Given the description of an element on the screen output the (x, y) to click on. 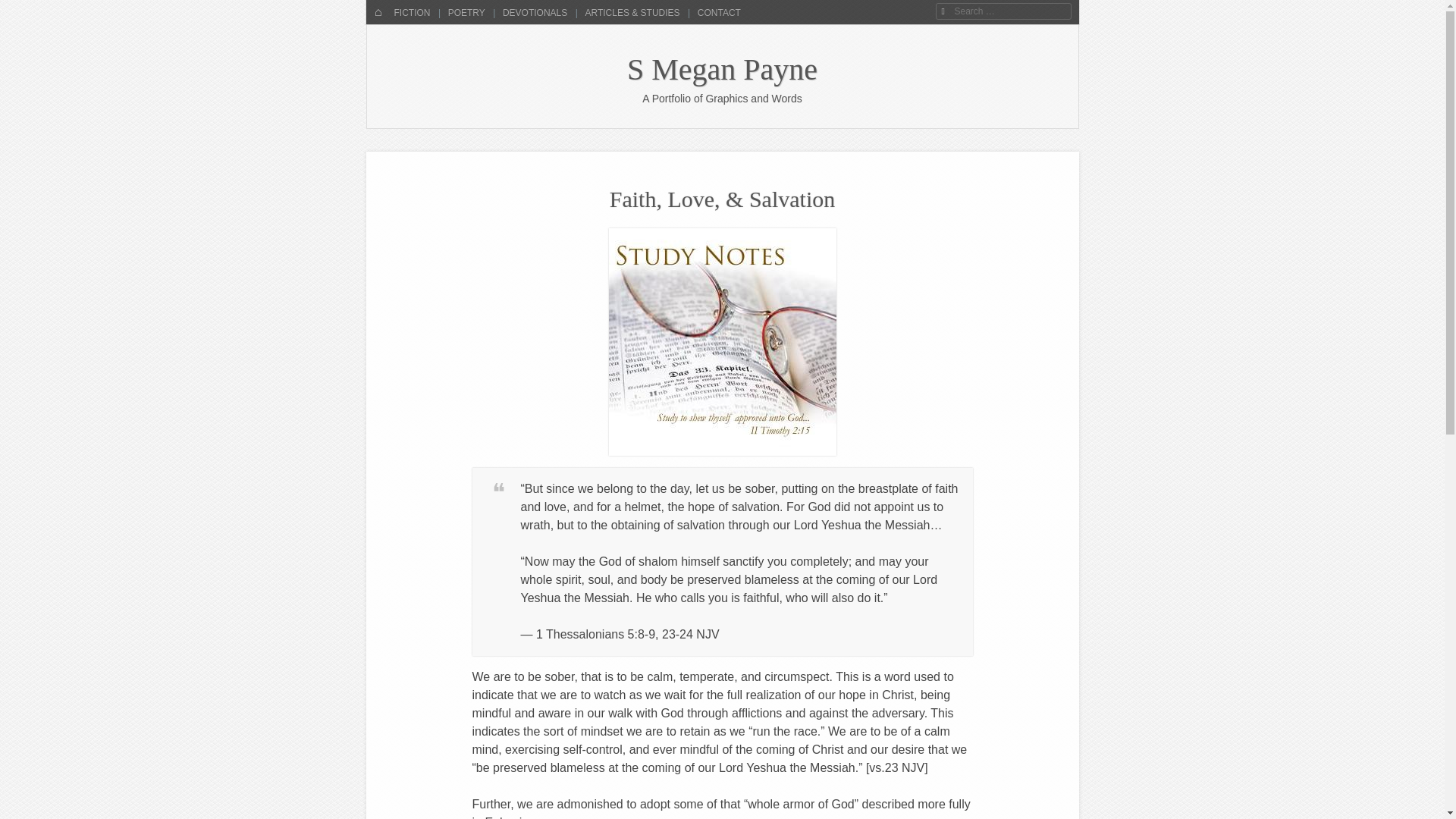
FICTION (411, 12)
SKIP TO CONTENT (412, 12)
DEVOTIONALS (533, 12)
CONTACT (717, 12)
POETRY (465, 12)
Search (24, 9)
HOME (378, 12)
S Megan Payne (721, 69)
S Megan Payne (721, 69)
Skip to content (412, 12)
